Given the description of an element on the screen output the (x, y) to click on. 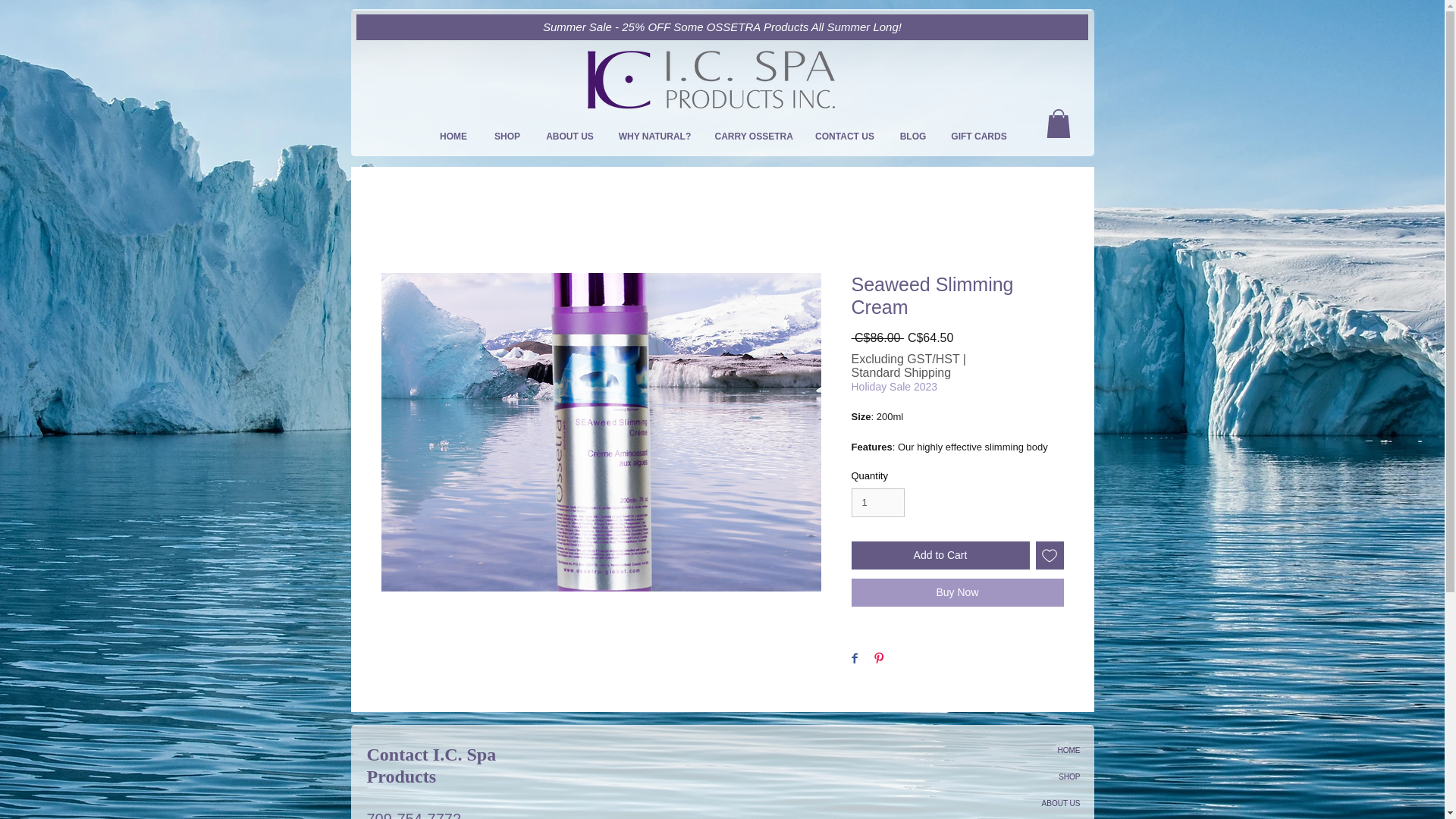
HOME (453, 135)
HOME (1027, 750)
Standard Shipping (900, 373)
CARRY OSSETRA (753, 135)
SHOP (1027, 776)
BLOG (912, 135)
1 (877, 502)
Buy Now (956, 592)
ABOUT US (570, 135)
SHOP (506, 135)
Add to Cart (939, 555)
GIFT CARDS (978, 135)
CONTACT US (844, 135)
WHY NATURAL? (655, 135)
